Given the description of an element on the screen output the (x, y) to click on. 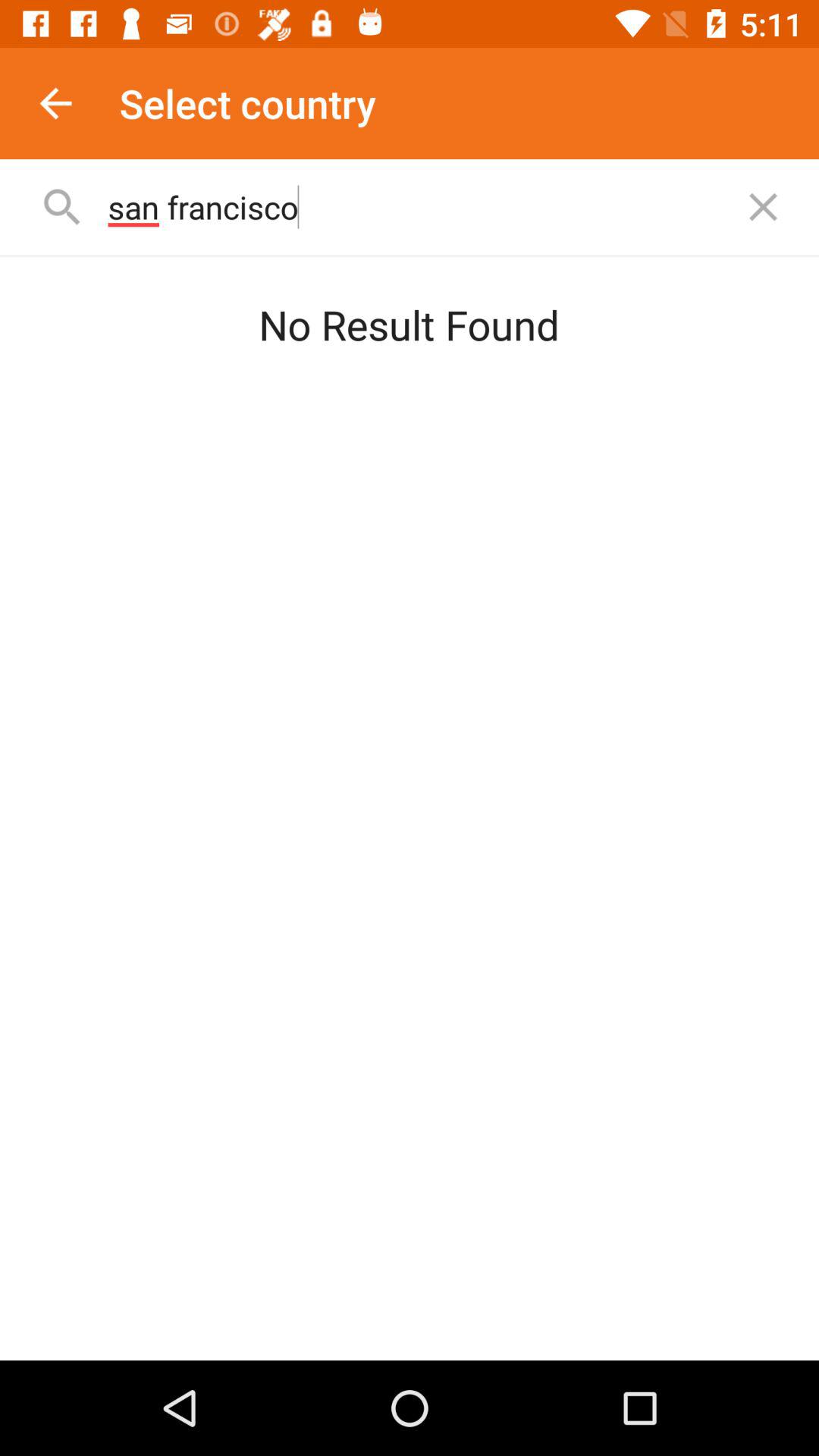
delete text in search bar (763, 206)
